Given the description of an element on the screen output the (x, y) to click on. 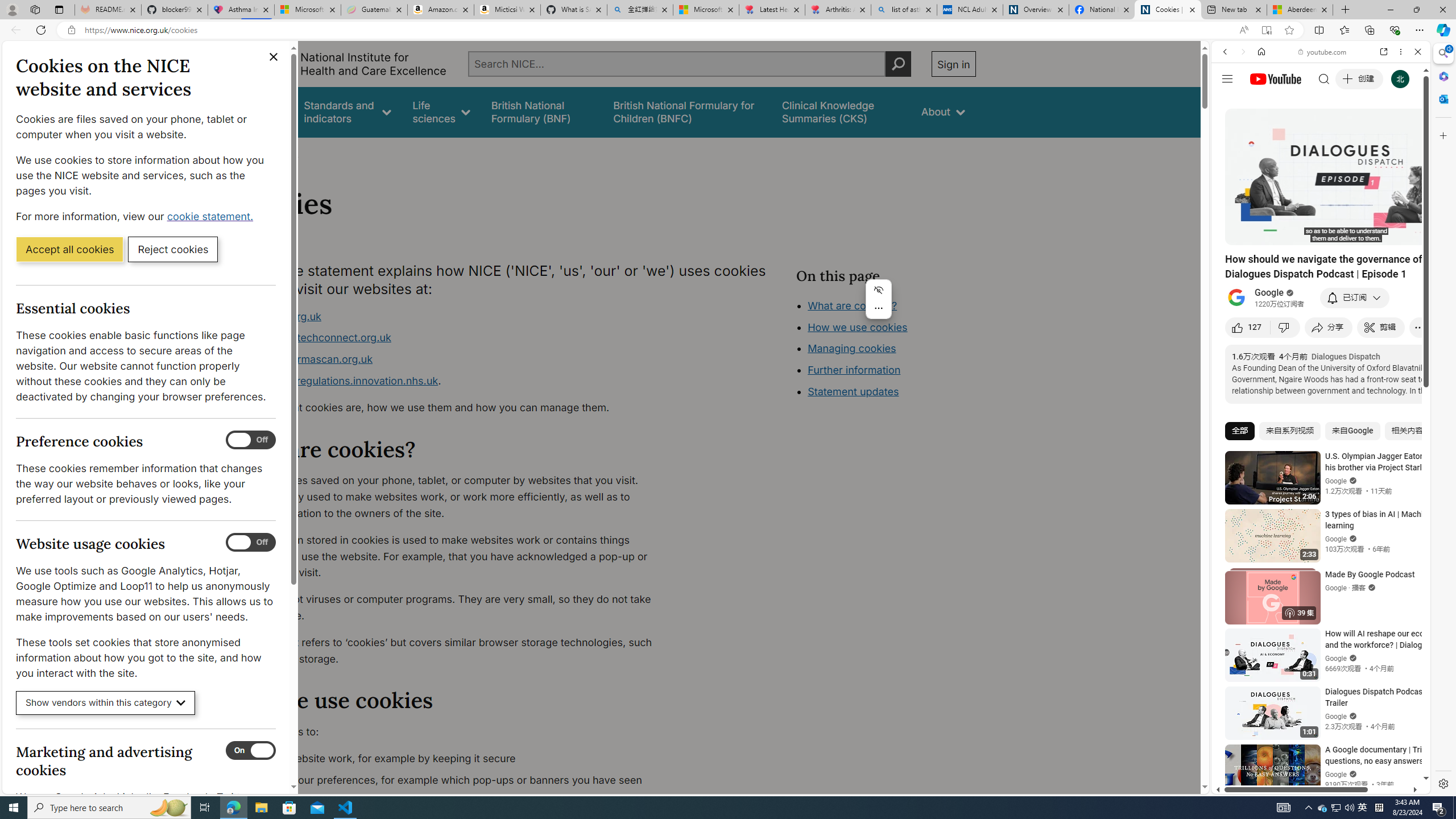
Marketing and advertising cookies (250, 750)
youtube.com (1322, 51)
